Given the description of an element on the screen output the (x, y) to click on. 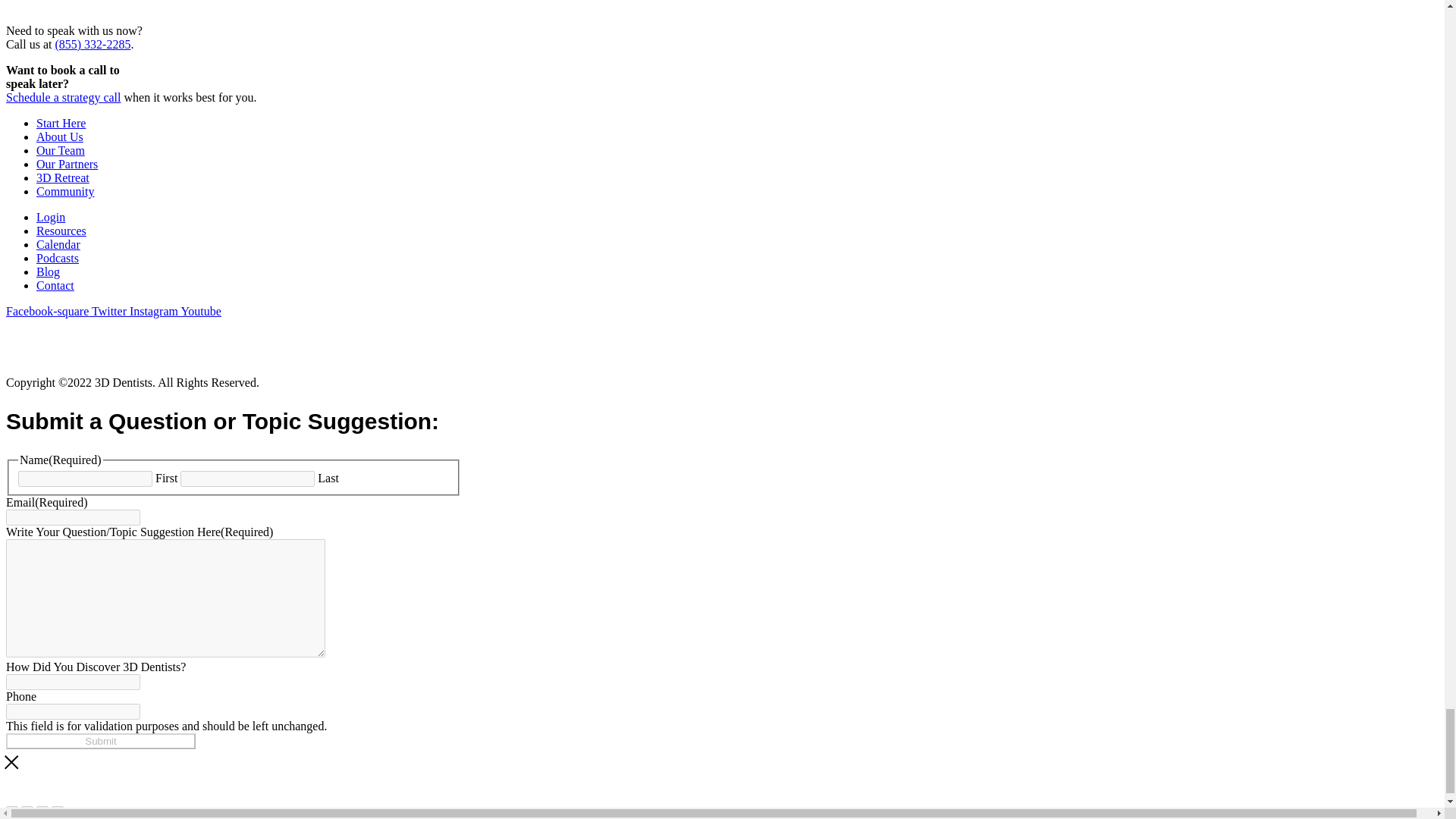
About Us (59, 136)
Schedule a strategy call (62, 97)
Start Here (60, 123)
Our Team (60, 150)
Submit (100, 741)
